Given the description of an element on the screen output the (x, y) to click on. 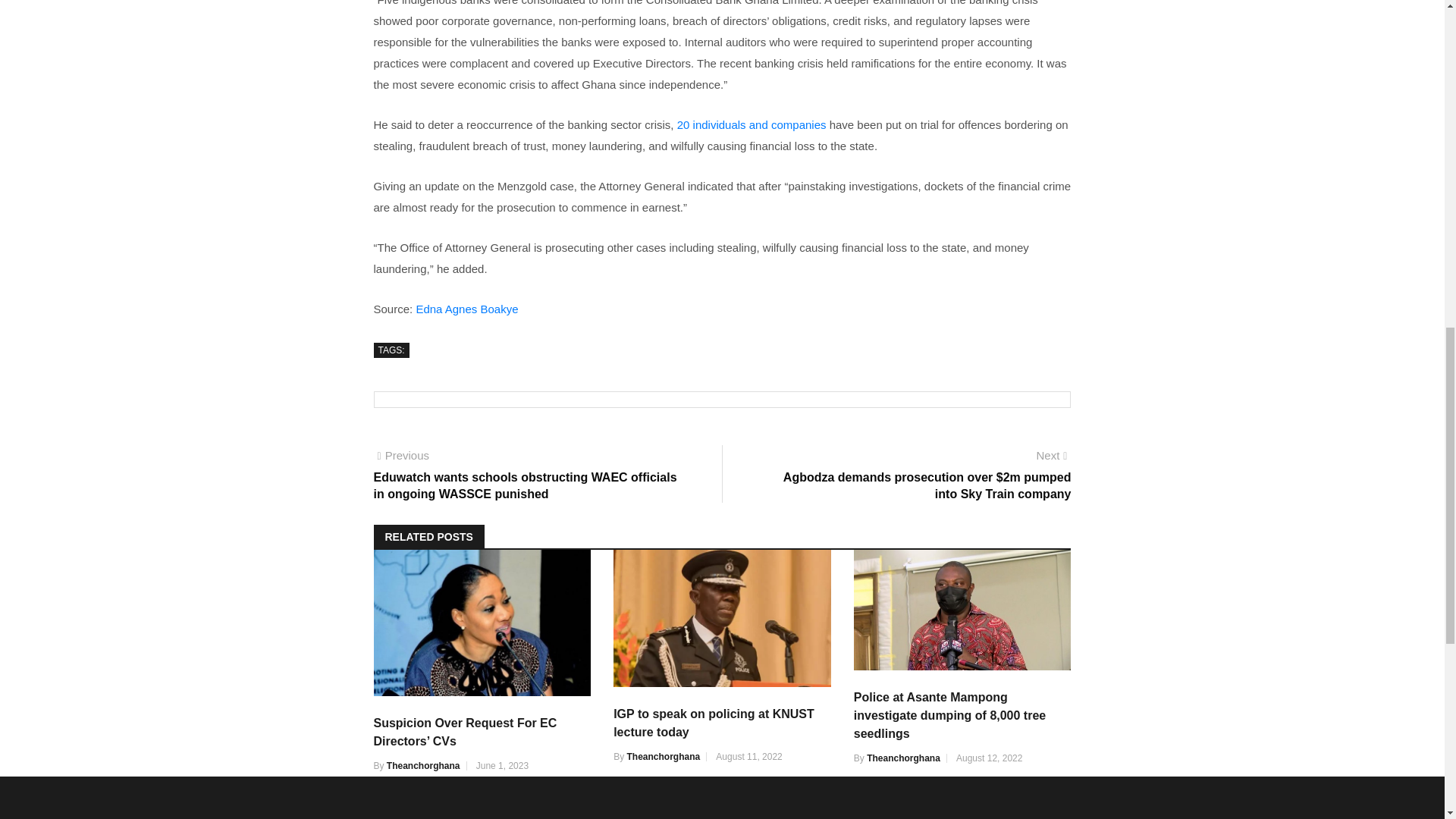
Theanchorghana (663, 756)
Posts by theanchorghana (663, 756)
Posts by theanchorghana (903, 757)
IGP to speak on policing at KNUST lecture today (712, 722)
20 individuals and companies (750, 124)
Posts by theanchorghana (423, 765)
Theanchorghana (423, 765)
Edna Agnes Boakye (466, 308)
